Given the description of an element on the screen output the (x, y) to click on. 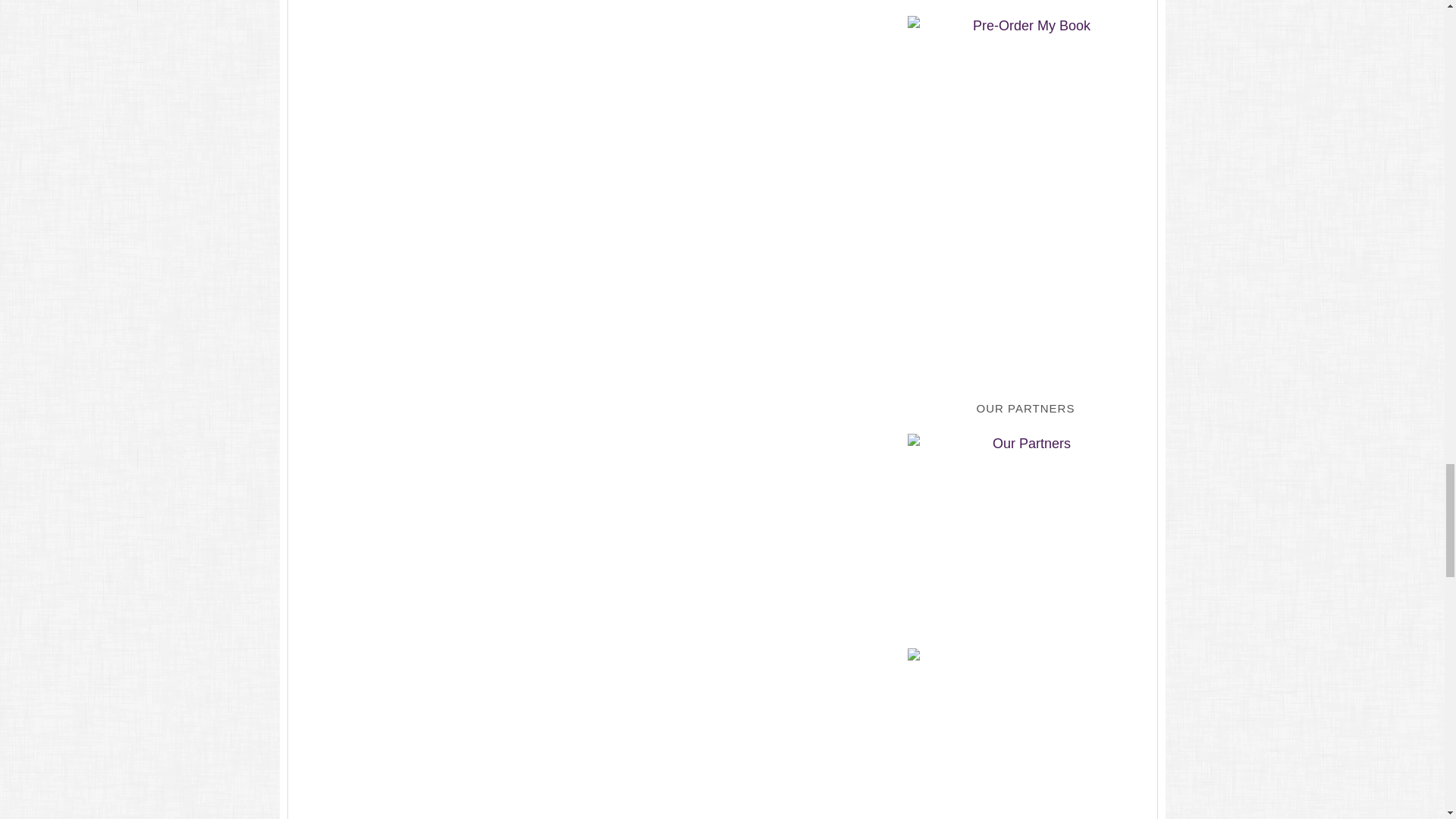
Our Partners (1024, 526)
